Given the description of an element on the screen output the (x, y) to click on. 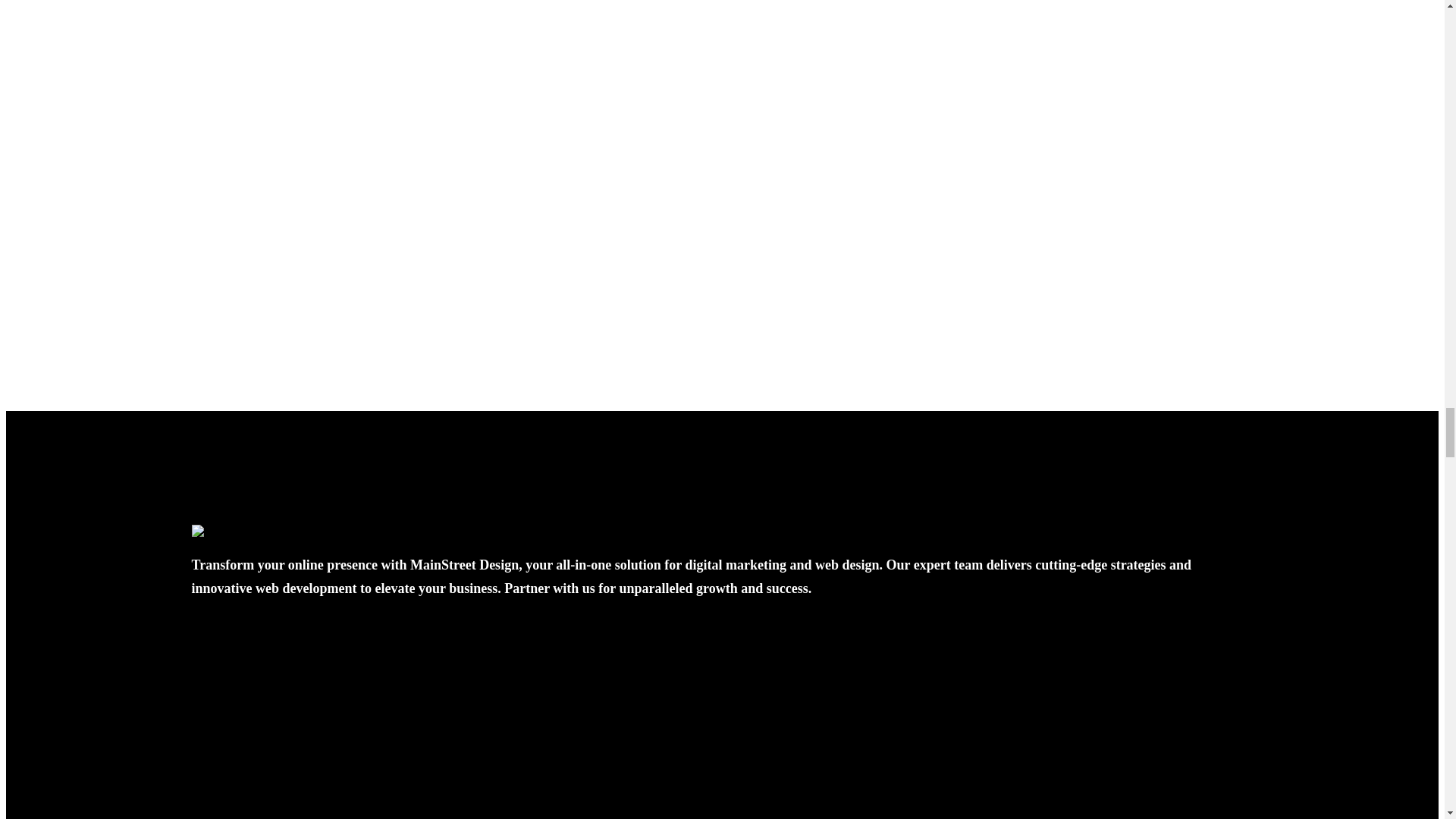
mainstreet-designs-logo-white (270, 531)
